Given the description of an element on the screen output the (x, y) to click on. 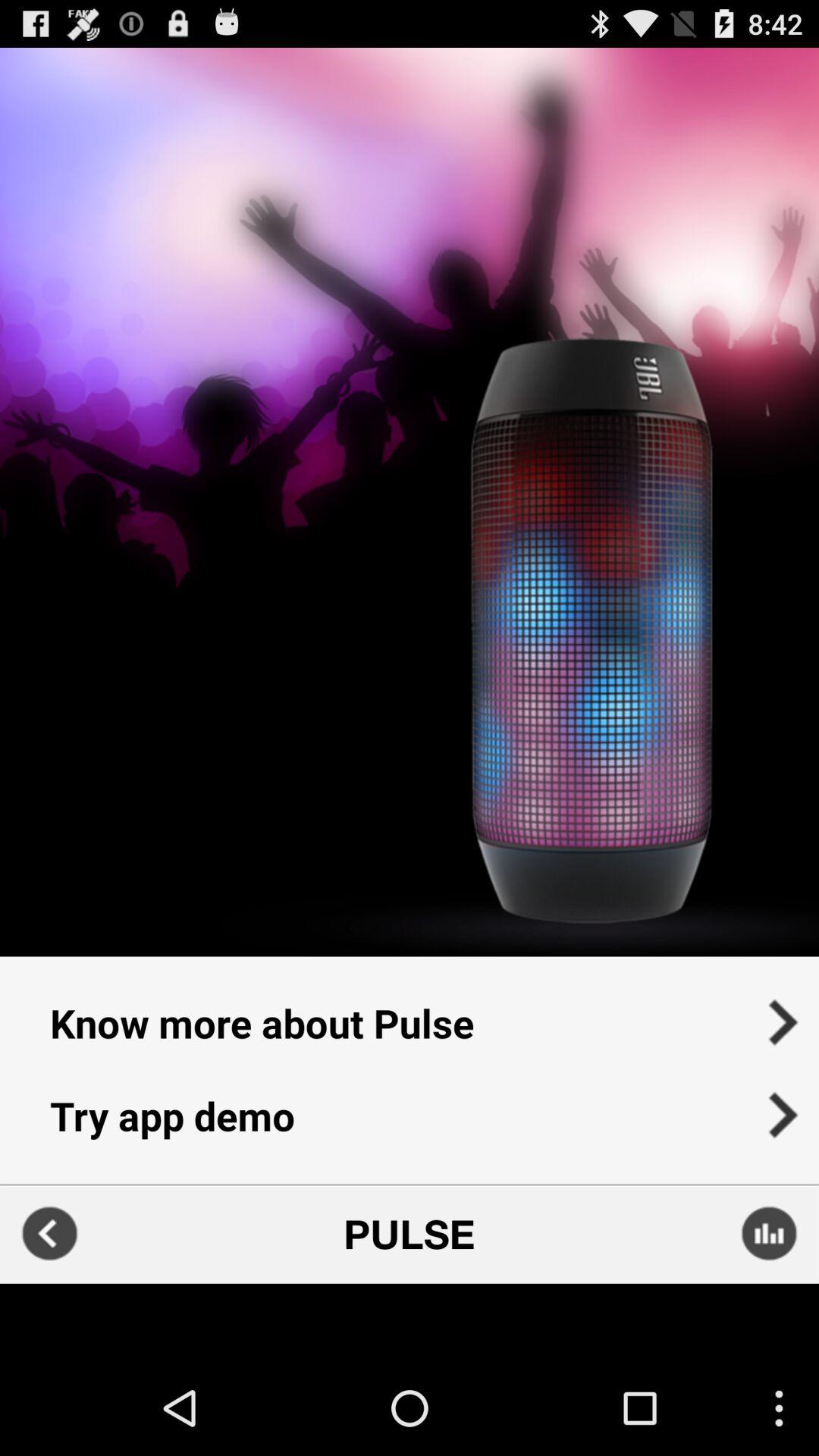
sound settings (769, 1233)
